Given the description of an element on the screen output the (x, y) to click on. 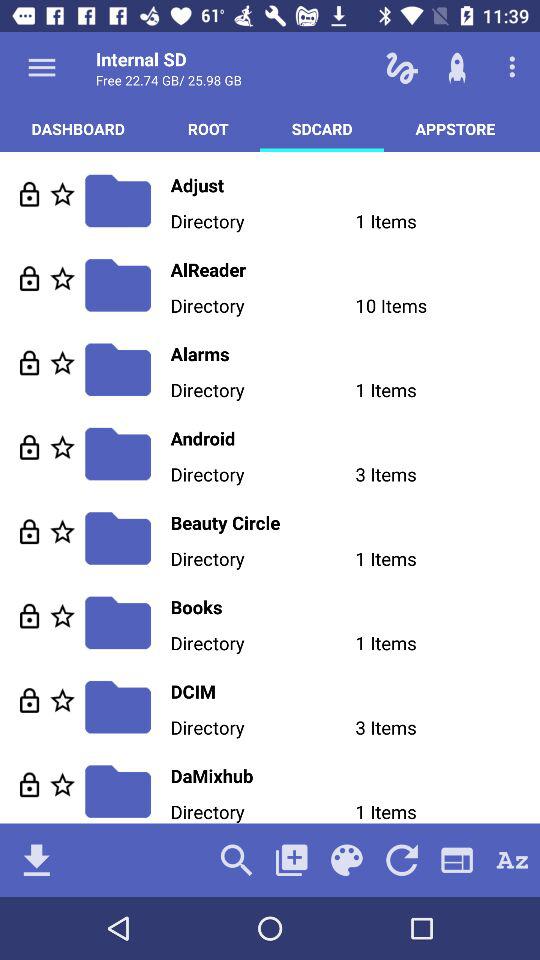
more button (42, 67)
